Given the description of an element on the screen output the (x, y) to click on. 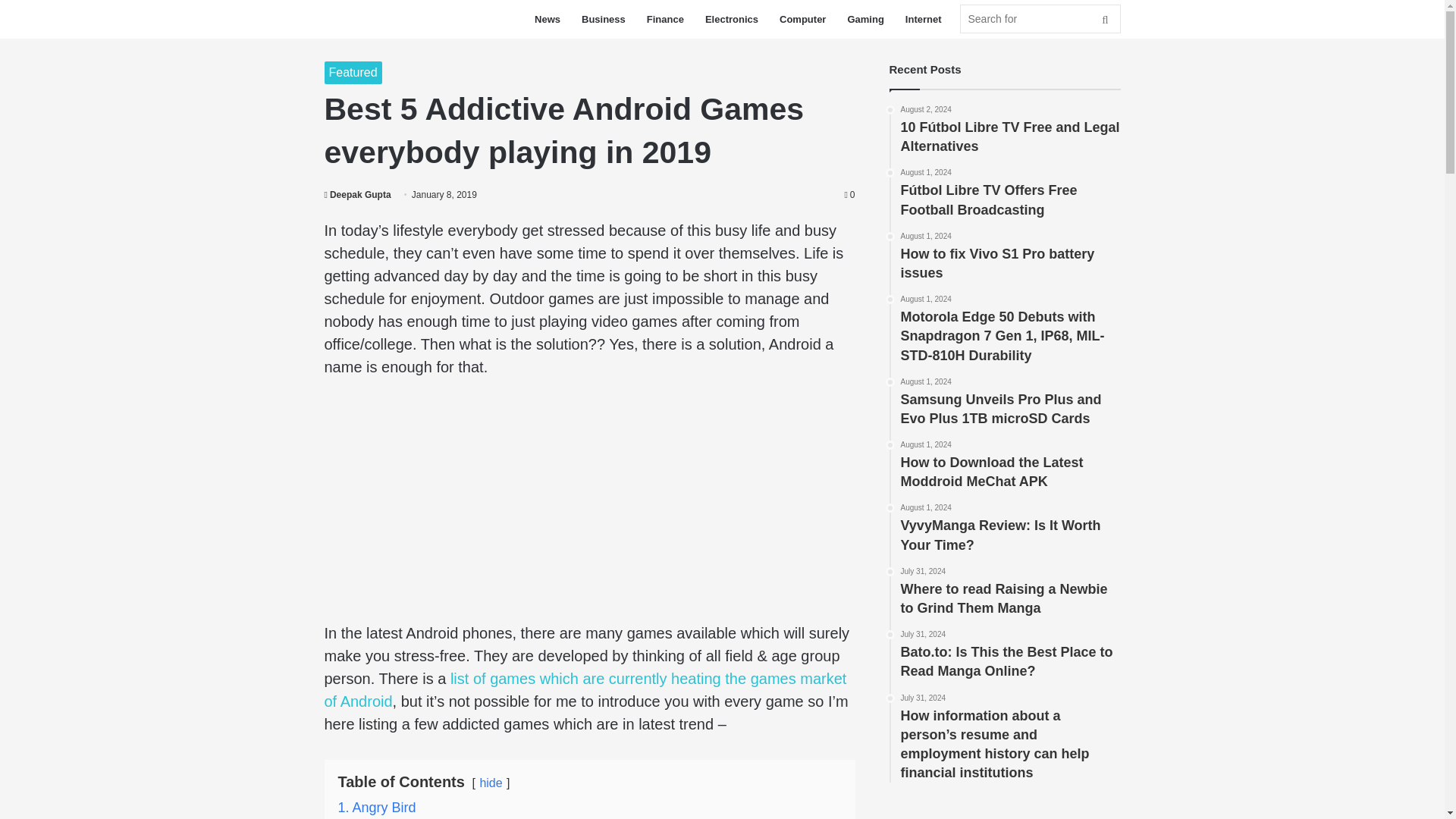
Computer (801, 19)
Electronics (1011, 528)
Deepak Gupta (731, 19)
Search for (357, 194)
Business (1040, 18)
Deepak Gupta (603, 19)
hide (357, 194)
Internet (490, 782)
Finance (923, 19)
Featured (1011, 256)
